Given the description of an element on the screen output the (x, y) to click on. 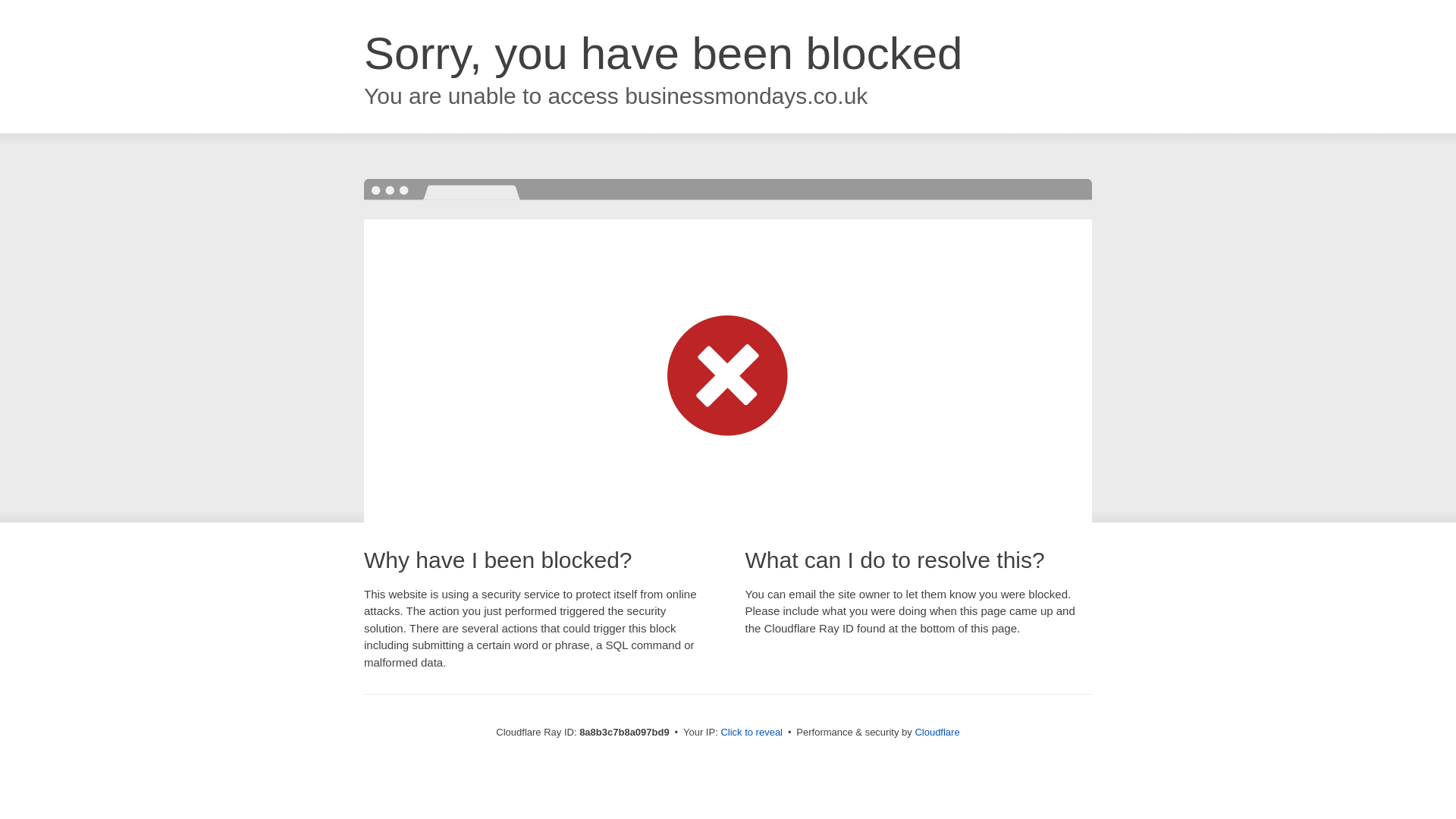
Click to reveal (751, 732)
Cloudflare (936, 731)
